Given the description of an element on the screen output the (x, y) to click on. 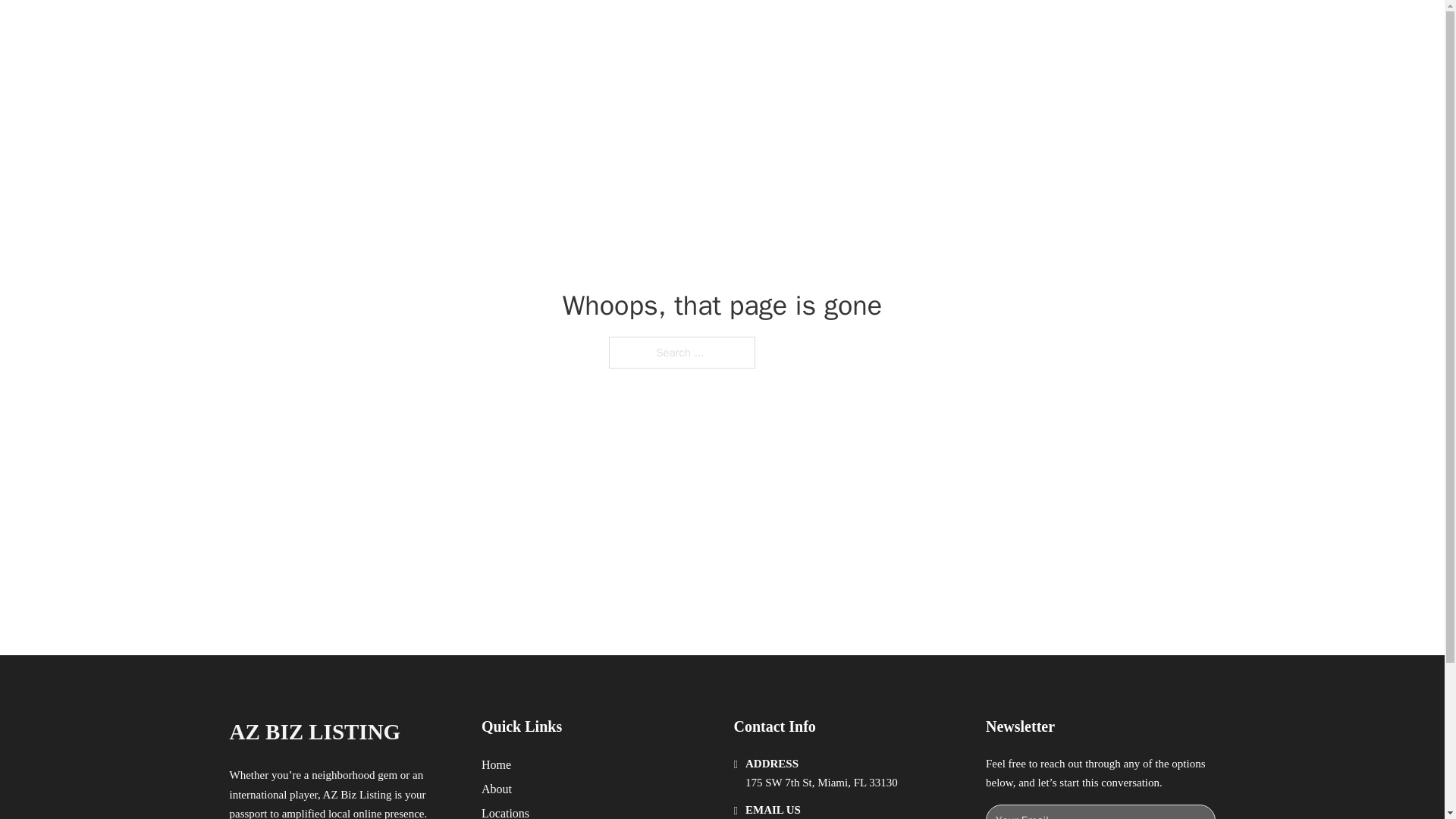
Locations (505, 811)
AZ BIZ LISTING (314, 732)
HOME (919, 29)
Home (496, 764)
AZ BIZ LISTING (387, 28)
About (496, 788)
LOCATIONS (990, 29)
